Given the description of an element on the screen output the (x, y) to click on. 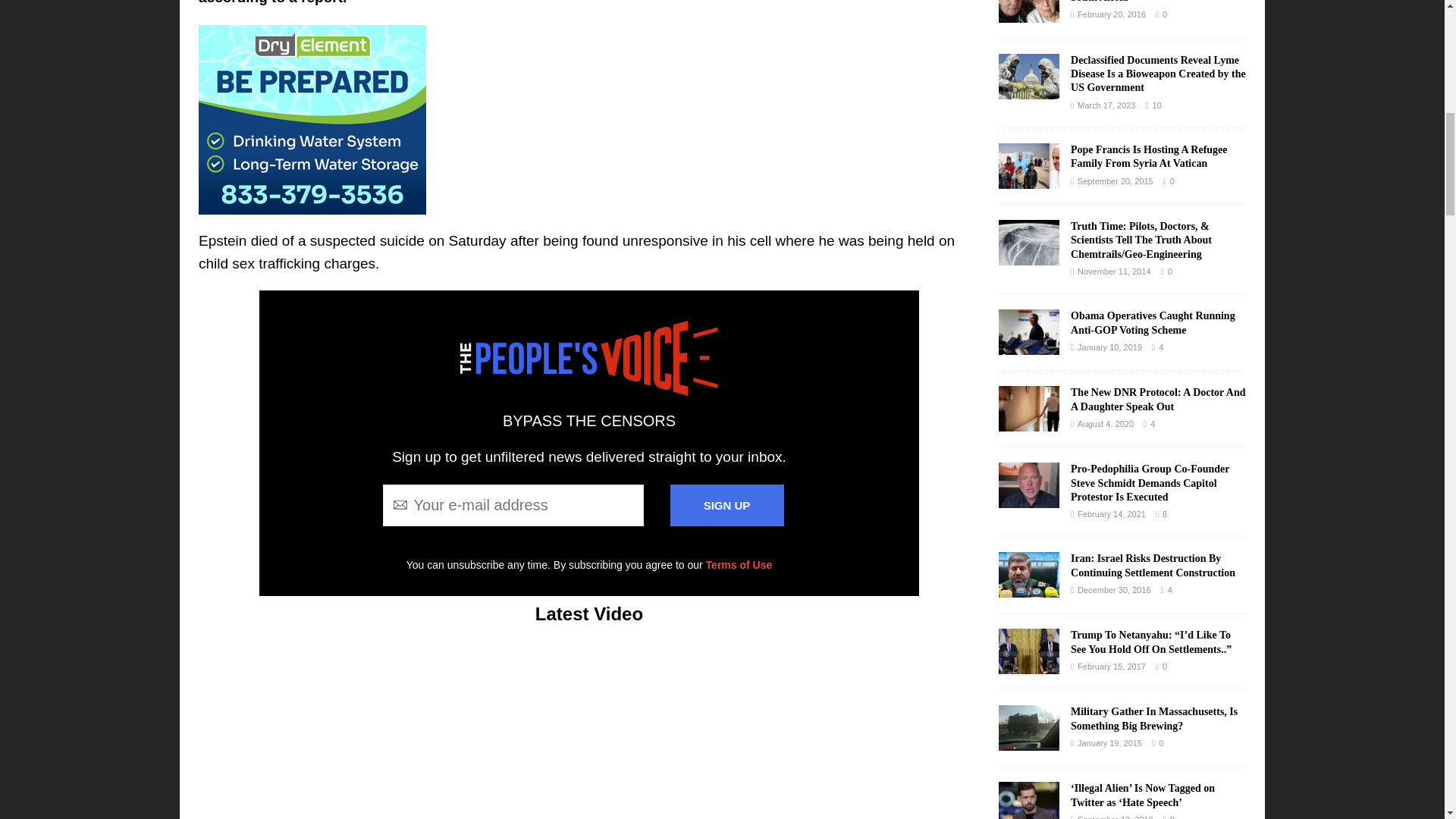
SIGN UP (726, 505)
